Given the description of an element on the screen output the (x, y) to click on. 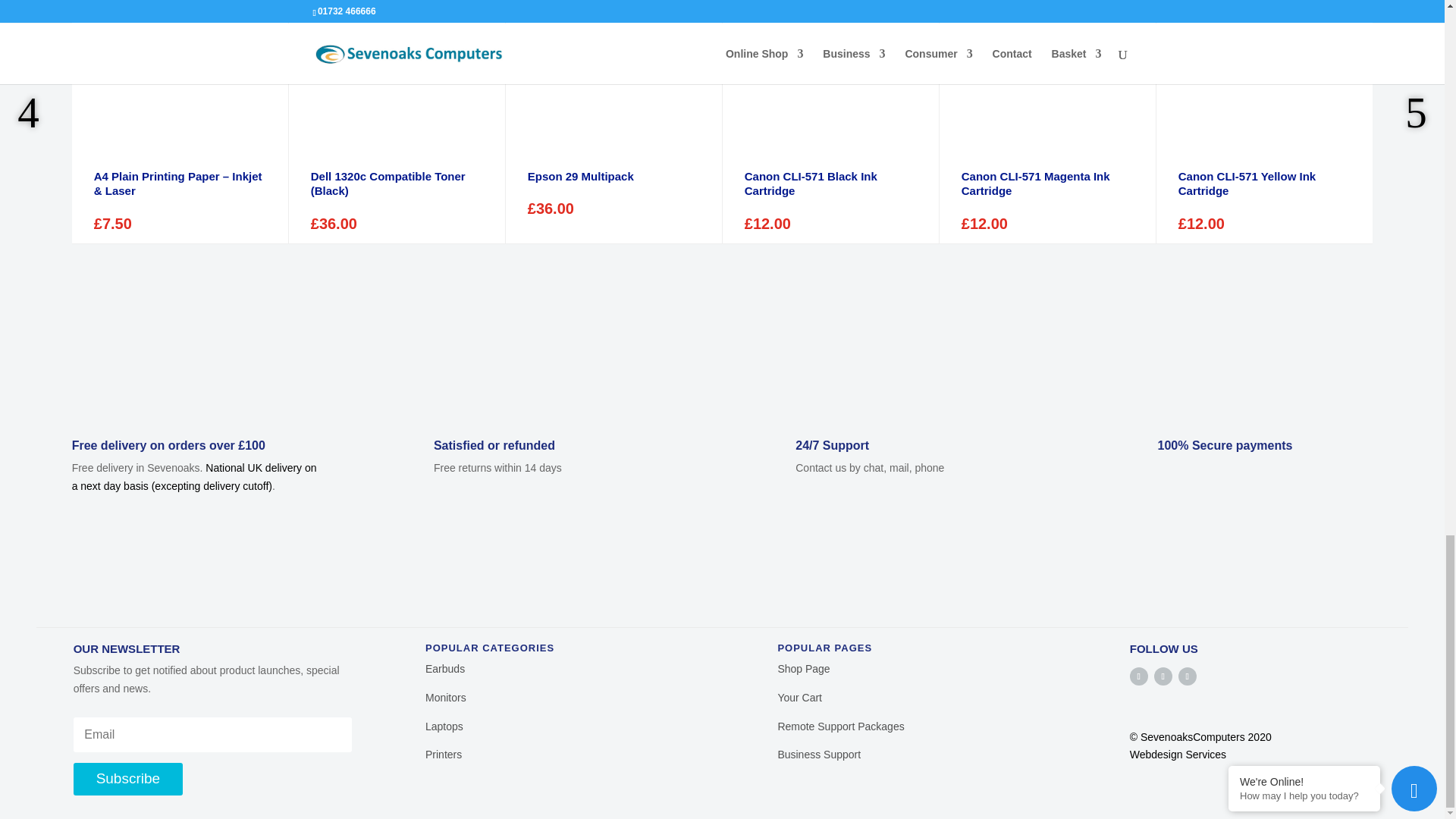
Follow on LinkedIn (1186, 676)
Follow on Facebook (1138, 676)
Follow on Twitter (1163, 676)
